Given the description of an element on the screen output the (x, y) to click on. 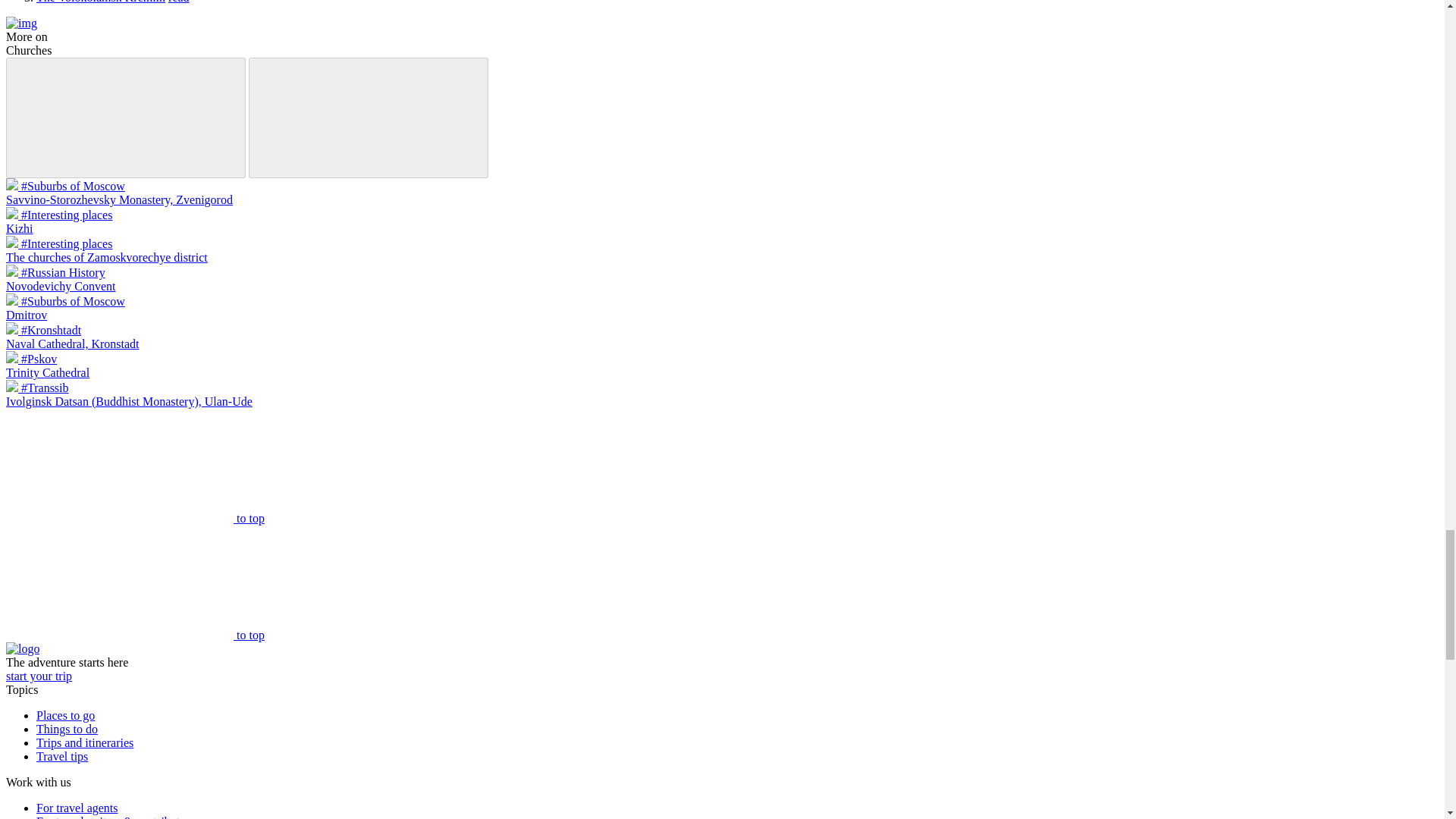
to top (134, 634)
